Given the description of an element on the screen output the (x, y) to click on. 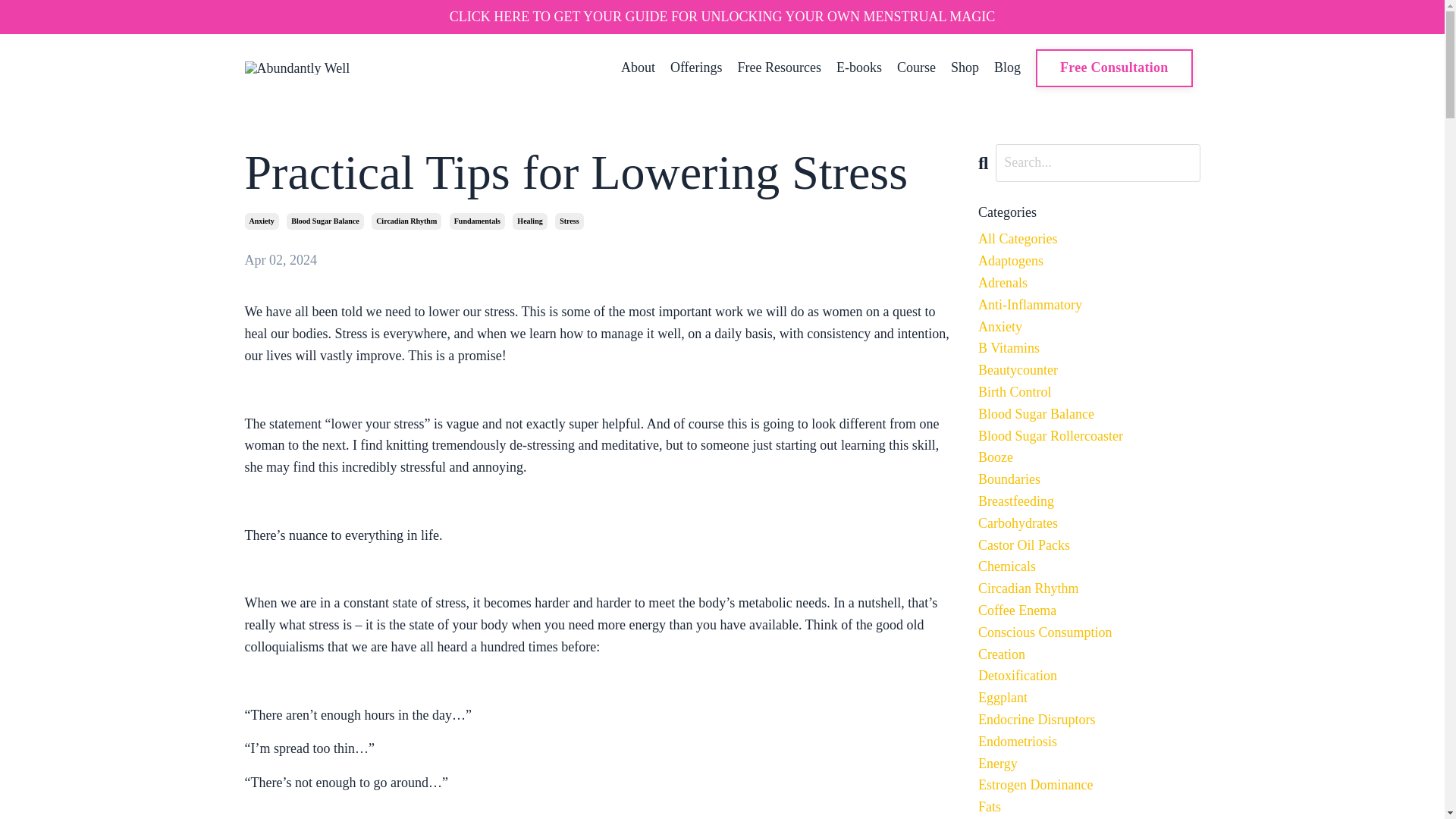
Blood Sugar Balance (1088, 414)
Boundaries (1088, 479)
Anxiety (1088, 327)
About (638, 67)
Blog (1007, 67)
Shop (964, 67)
Free Consultation (1113, 67)
Course (916, 67)
E-books (858, 67)
Circadian Rhythm (406, 221)
Blood Sugar Balance (324, 221)
Beautycounter (1088, 370)
Anxiety (261, 221)
Breastfeeding (1088, 501)
Adaptogens (1088, 260)
